Given the description of an element on the screen output the (x, y) to click on. 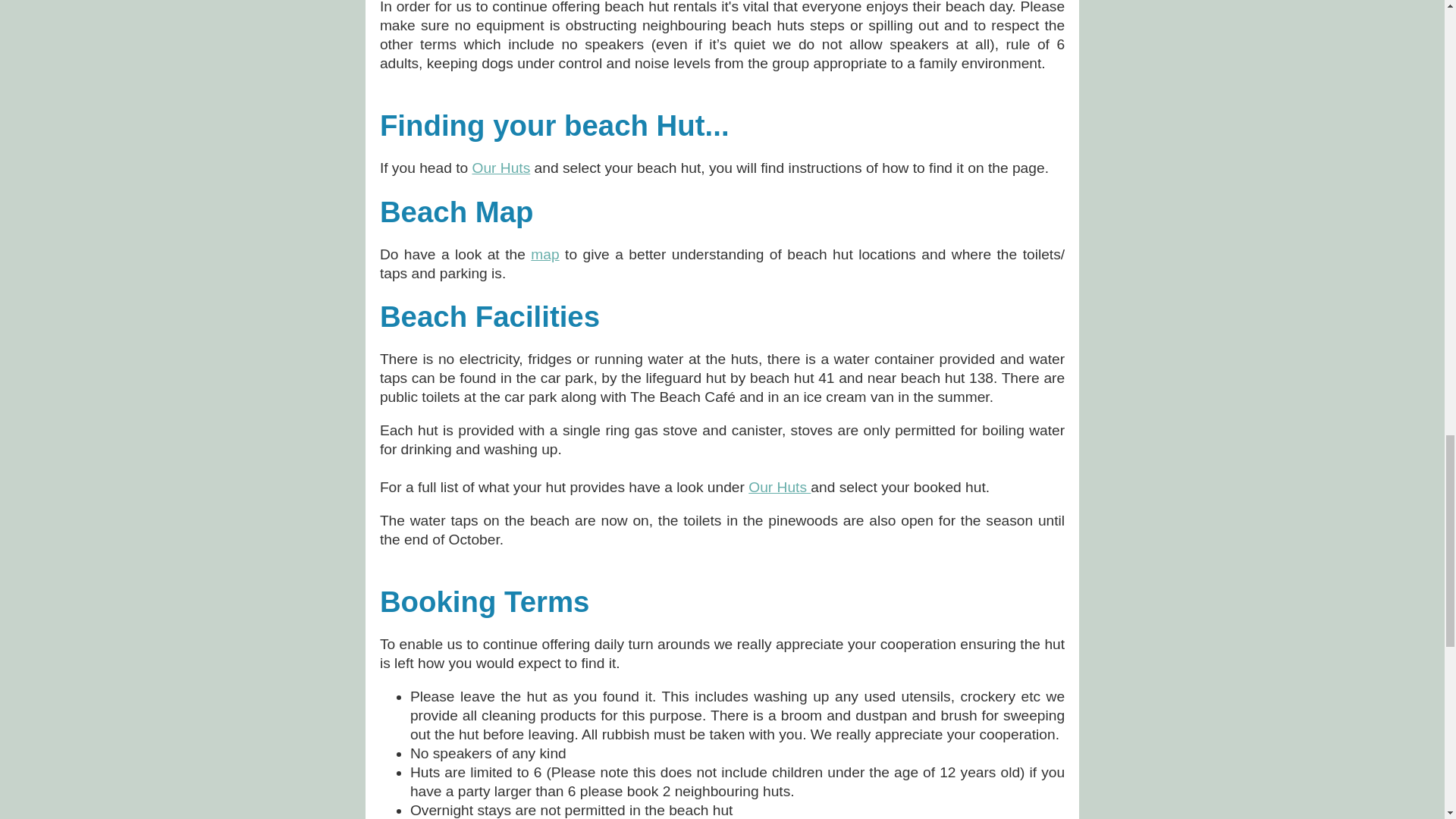
Our Huts  (779, 487)
map (545, 254)
Our Huts (500, 167)
